Given the description of an element on the screen output the (x, y) to click on. 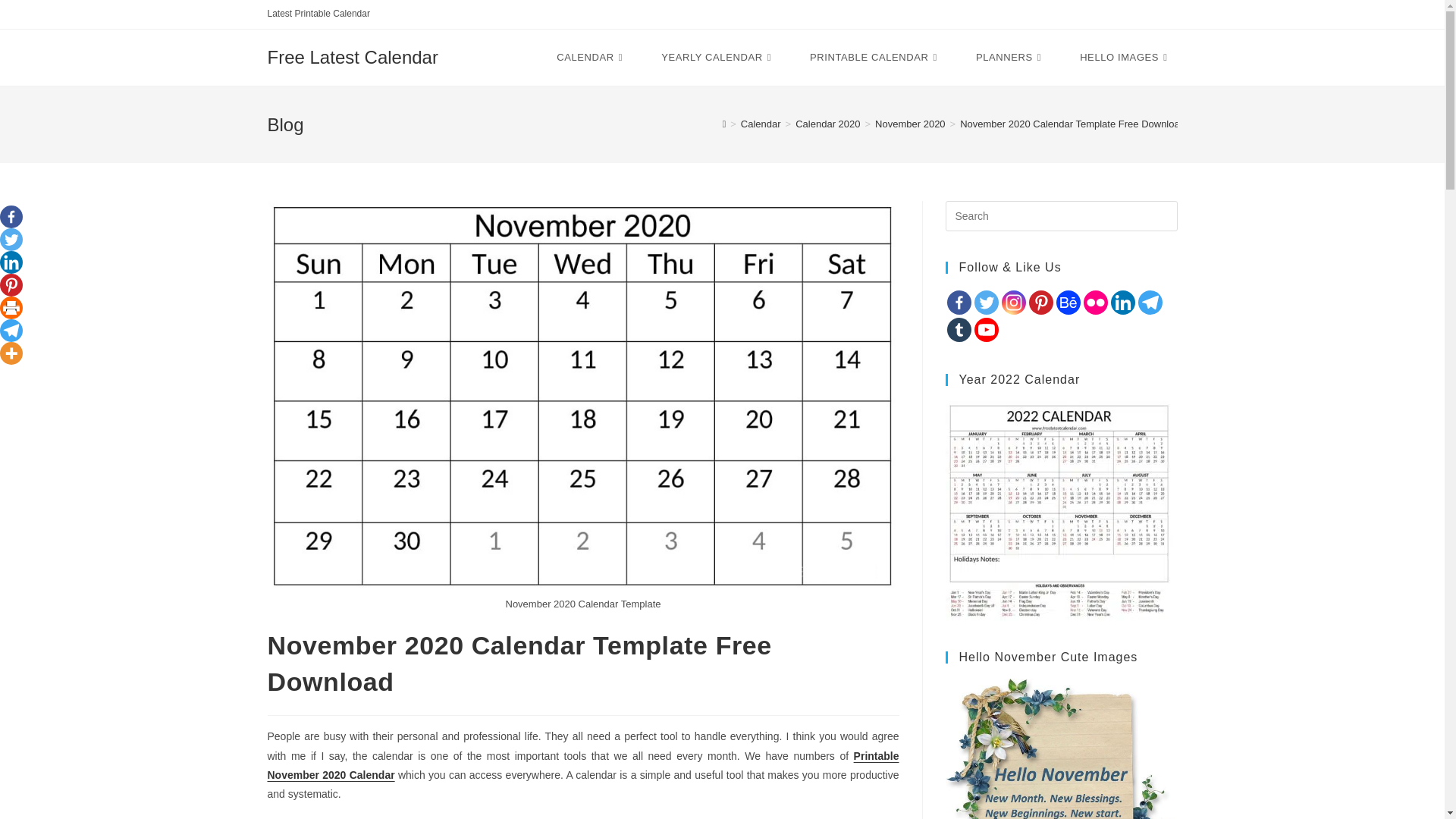
Facebook (11, 216)
Free Latest Calendar (352, 56)
CALENDAR (590, 57)
Twitter (11, 239)
Linkedin (11, 261)
Print (11, 307)
Pinterest (11, 284)
